Given the description of an element on the screen output the (x, y) to click on. 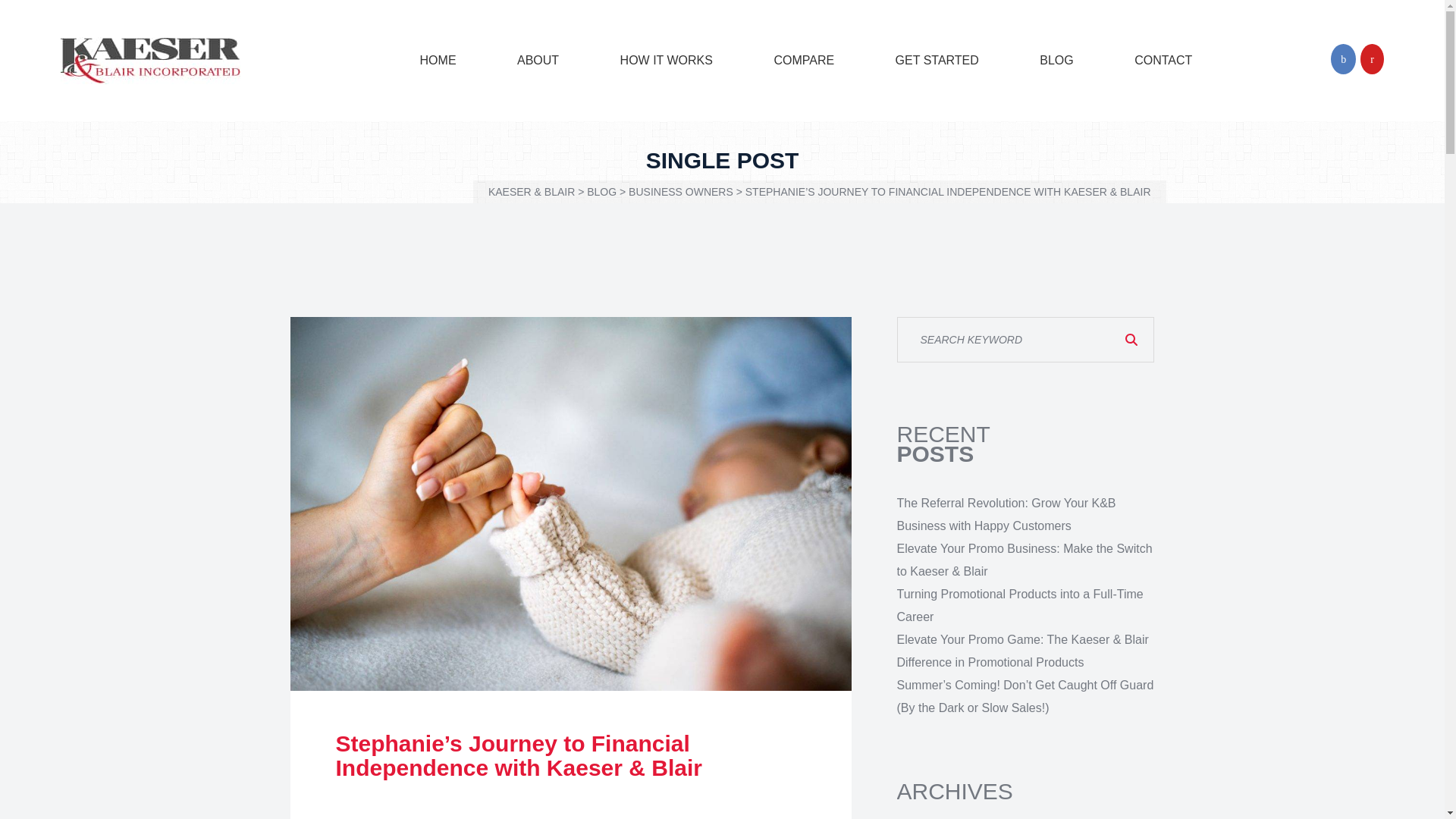
COMPARE (803, 60)
BLOG (600, 191)
Go to the business owners category archives. (680, 191)
GET STARTED (936, 60)
BUSINESS OWNERS (680, 191)
Go to Blog. (600, 191)
HOW IT WORKS (665, 60)
